Given the description of an element on the screen output the (x, y) to click on. 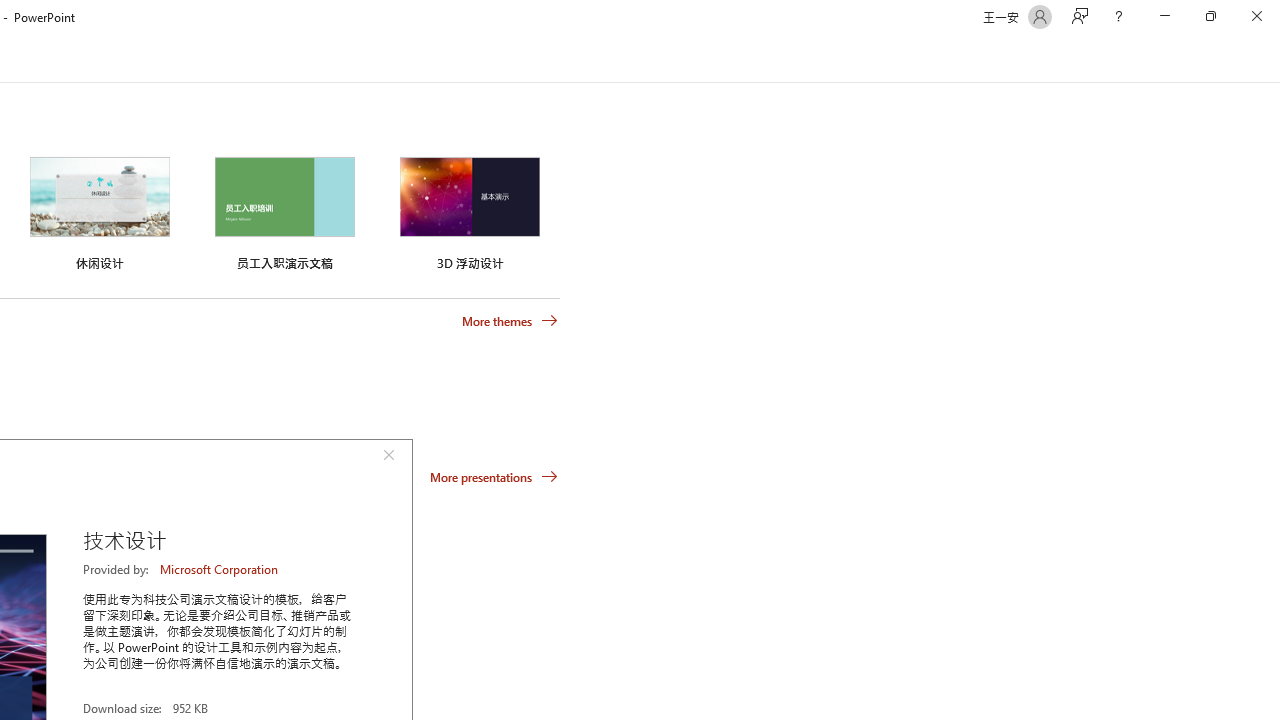
Microsoft Corporation (220, 569)
More presentations (493, 476)
More themes (509, 321)
Class: NetUIScrollBar (1271, 59)
